Given the description of an element on the screen output the (x, y) to click on. 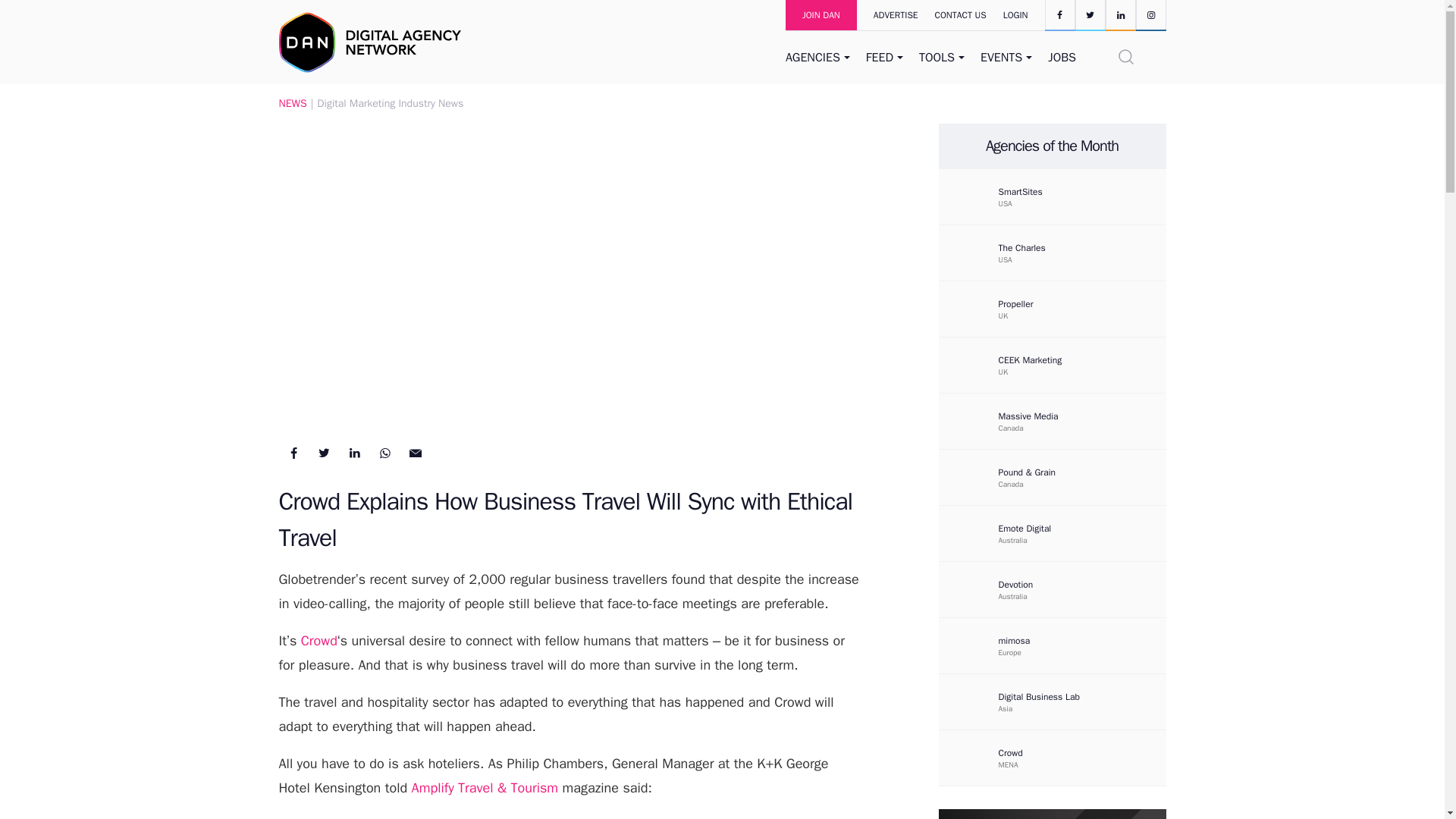
SmartSites (1051, 196)
Instagram (1150, 14)
The Charles (1064, 247)
The Charles (971, 253)
SmartSites (1064, 192)
CEEK Marketing (1051, 365)
ADVERTISE (887, 15)
AGENCIES (819, 57)
Facebook (1060, 14)
LOGIN (1016, 15)
